Given the description of an element on the screen output the (x, y) to click on. 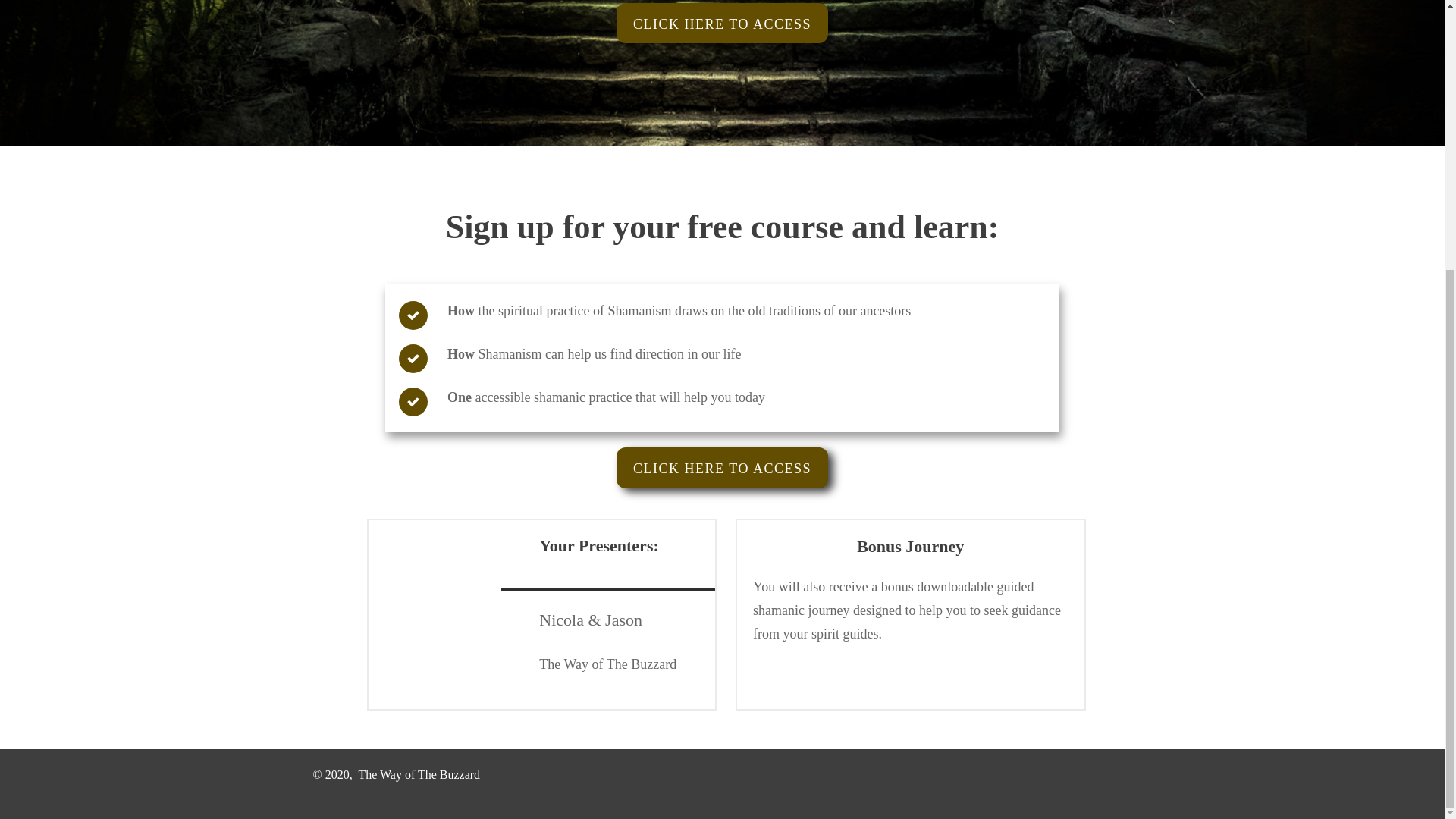
1711k108 (455, 585)
CLICK HERE TO ACCESS (721, 23)
CLICK HERE TO ACCESS (721, 467)
